Given the description of an element on the screen output the (x, y) to click on. 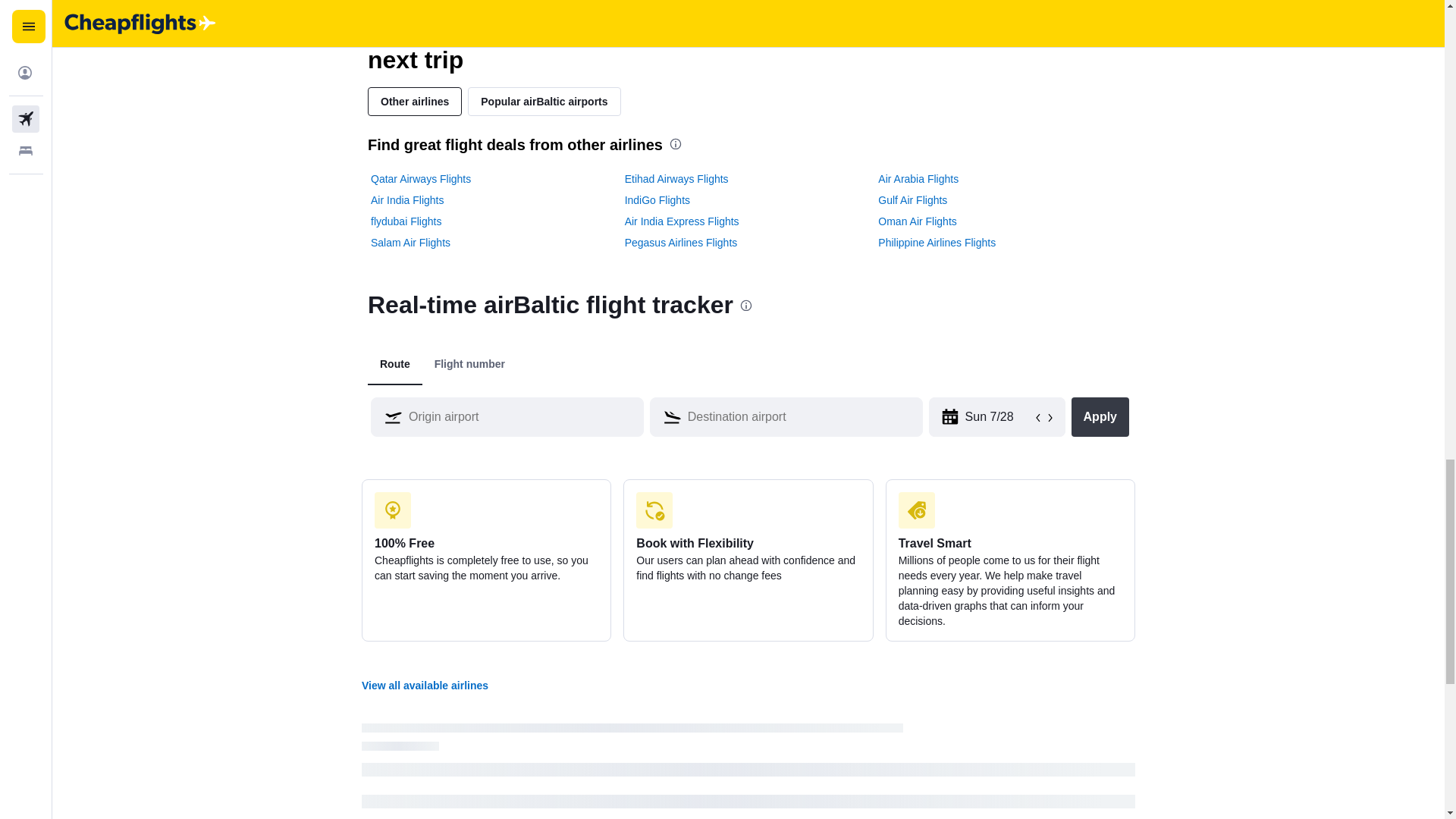
Gulf Air Flights (912, 200)
Air India Express Flights (681, 221)
Air Arabia Flights (917, 178)
Qatar Airways Flights (420, 178)
IndiGo Flights (657, 200)
Other airlines (414, 101)
flydubai Flights (406, 221)
Pegasus Airlines Flights (681, 242)
Popular airBaltic airports (543, 101)
Etihad Airways Flights (676, 178)
Salam Air Flights (410, 242)
Air India Flights (407, 200)
Oman Air Flights (916, 221)
